Given the description of an element on the screen output the (x, y) to click on. 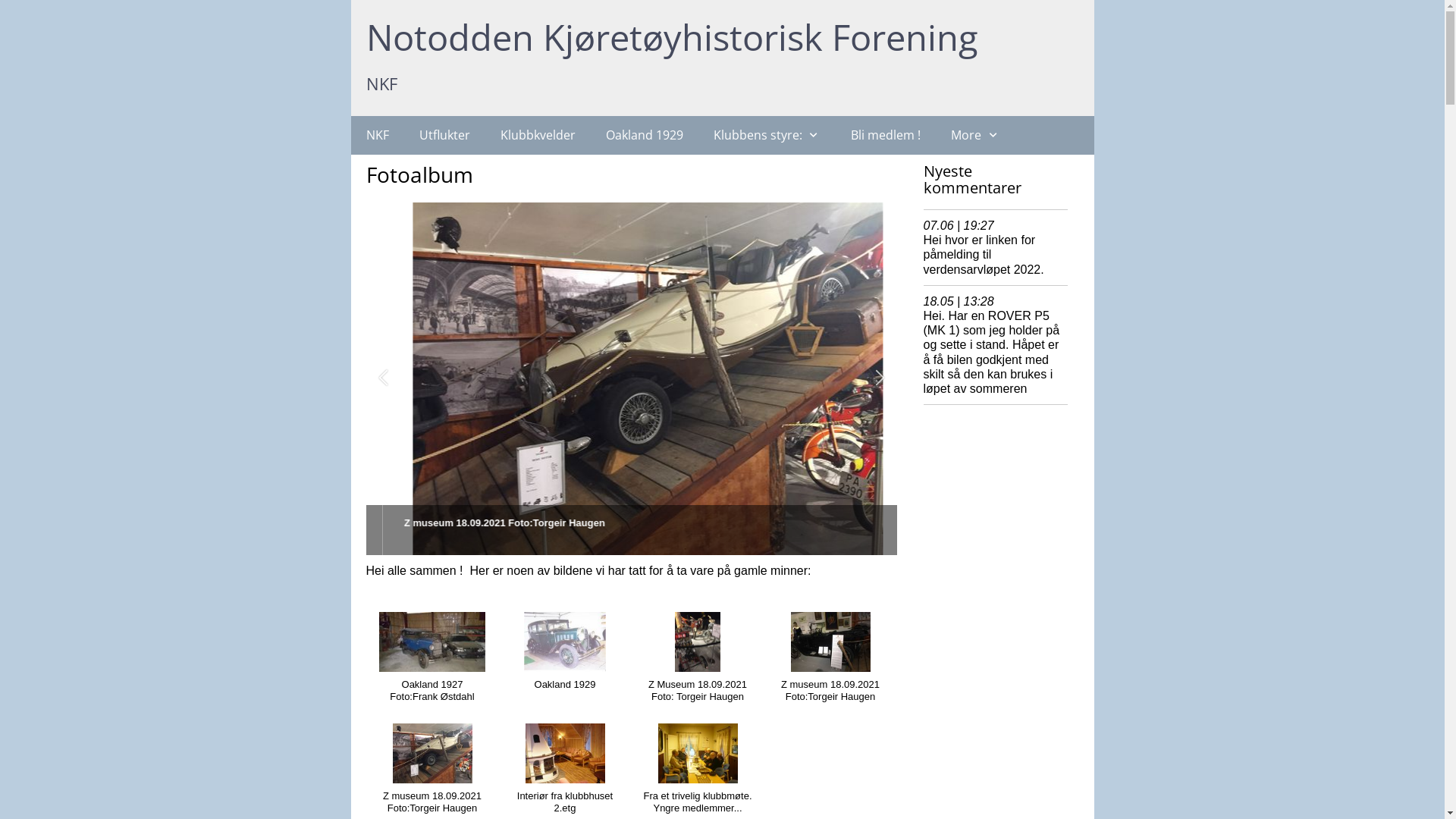
Utflukter Element type: text (443, 135)
Oakland 1929 Element type: text (643, 135)
Bli medlem ! Element type: text (885, 135)
Klubbkvelder Element type: text (537, 135)
More Element type: text (975, 135)
Z Museum 18.09.2021
Foto: Torgeir Haugen Element type: hover (630, 378)
Z Museum 18.09.2021
Foto: Torgeir Haugen Element type: text (698, 661)
NKF Element type: text (376, 135)
Oakland 1929 Element type: text (564, 655)
Z museum 18.09.2021
Foto:Torgeir Haugen Element type: text (829, 661)
Klubbens styre: Element type: text (766, 135)
